Given the description of an element on the screen output the (x, y) to click on. 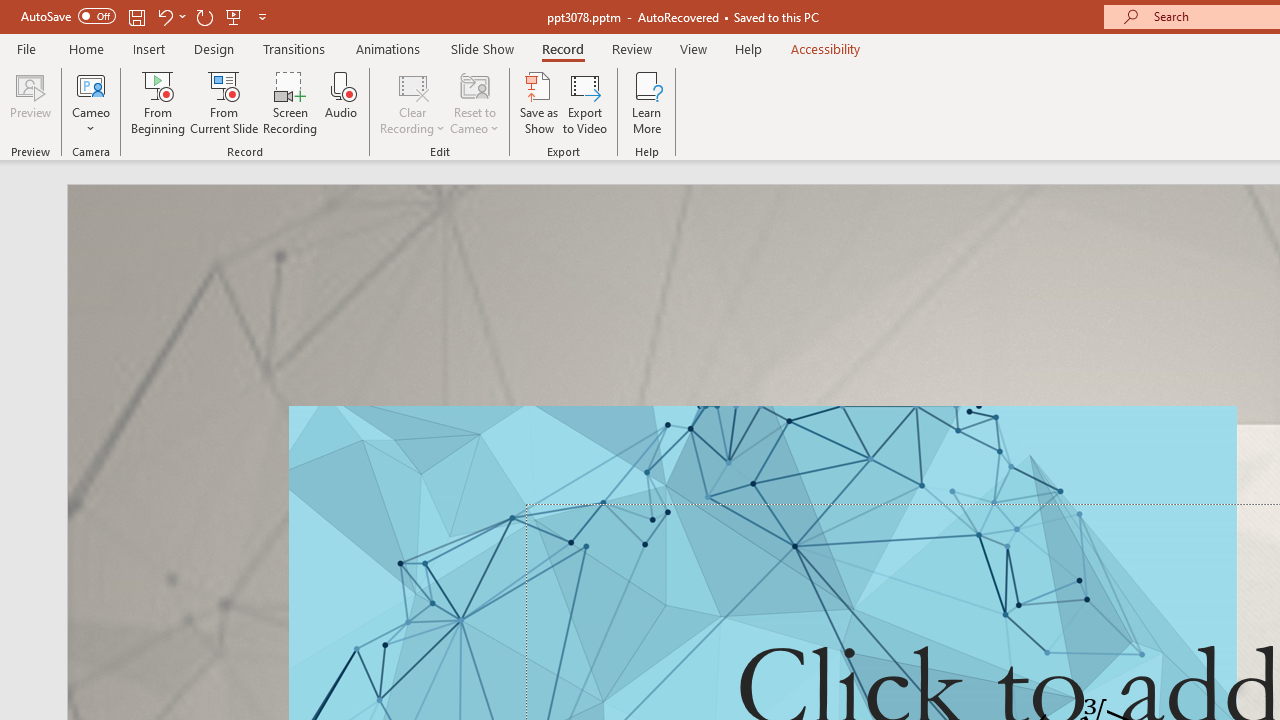
Reset to Cameo (474, 102)
Learn More (646, 102)
Audio (341, 102)
From Beginning... (158, 102)
